Given the description of an element on the screen output the (x, y) to click on. 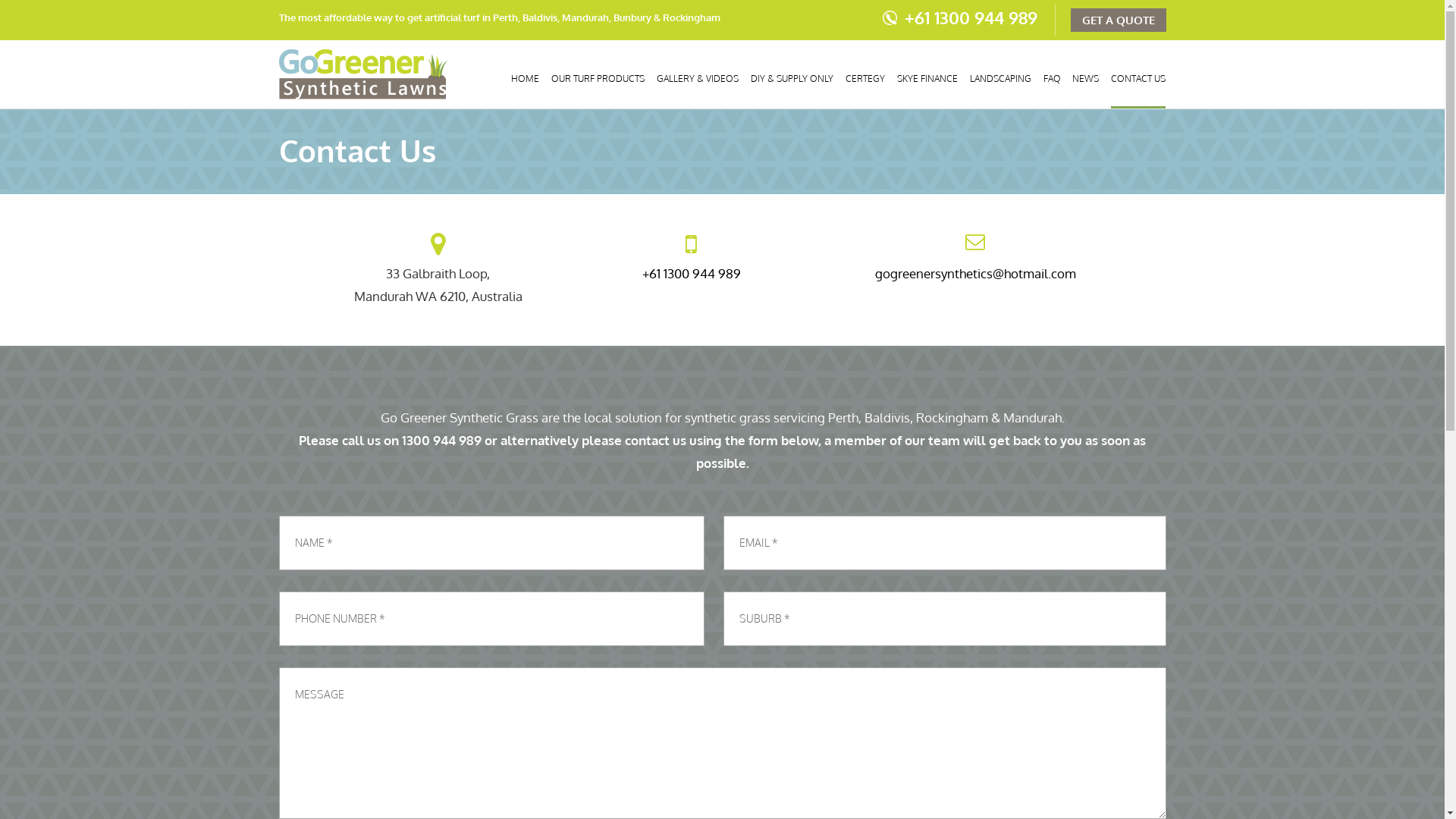
GET A QUOTE Element type: text (1118, 19)
FAQ Element type: text (1051, 84)
DIY & SUPPLY ONLY Element type: text (791, 84)
OUR TURF PRODUCTS Element type: text (597, 84)
+61 1300 944 989 Element type: text (958, 17)
gogreenersynthetics@hotmail.com Element type: text (975, 273)
NEWS Element type: text (1085, 84)
CERTEGY Element type: text (864, 84)
SKYE FINANCE Element type: text (927, 84)
LANDSCAPING Element type: text (1000, 84)
+61 1300 944 989 Element type: text (691, 273)
HOME Element type: text (525, 84)
CONTACT US Element type: text (1137, 84)
Go Greener Synthetic Lawns Element type: hover (381, 74)
GALLERY & VIDEOS Element type: text (697, 84)
